Given the description of an element on the screen output the (x, y) to click on. 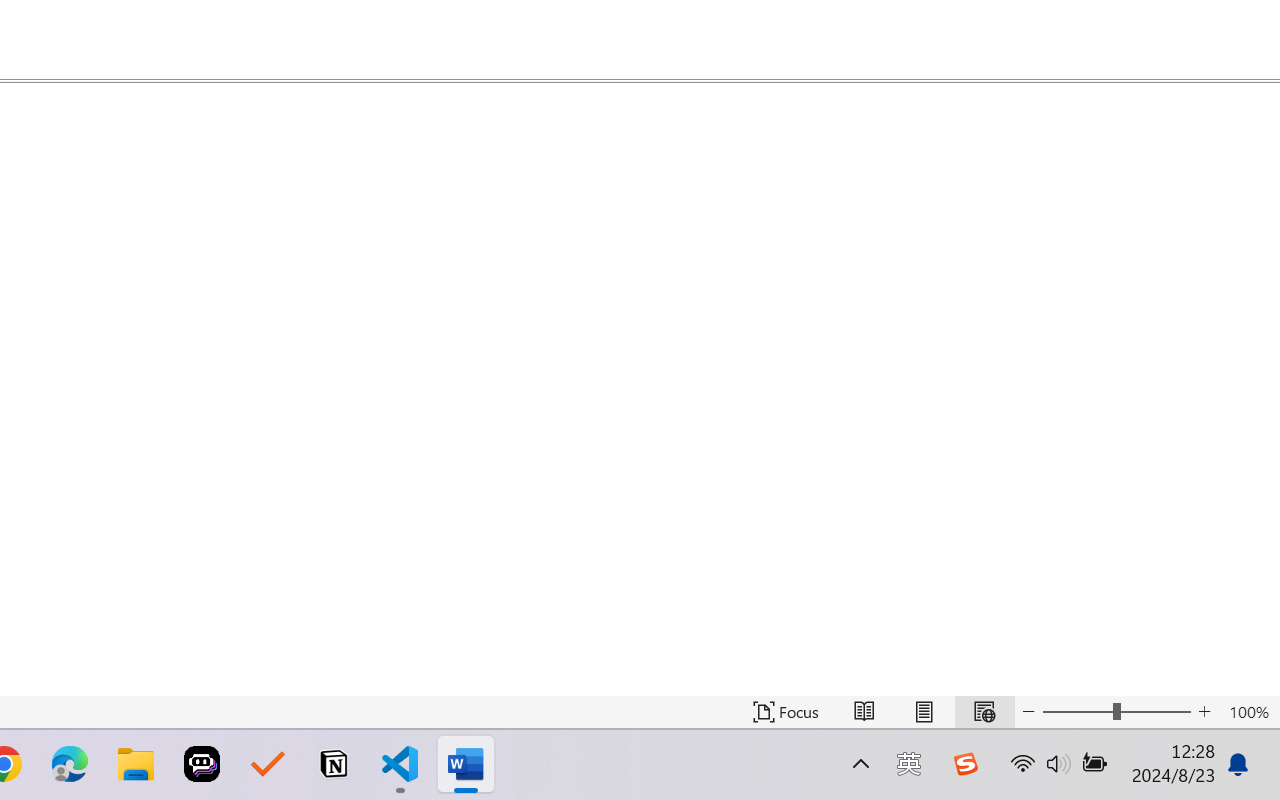
Zoom 100% (1249, 712)
